Given the description of an element on the screen output the (x, y) to click on. 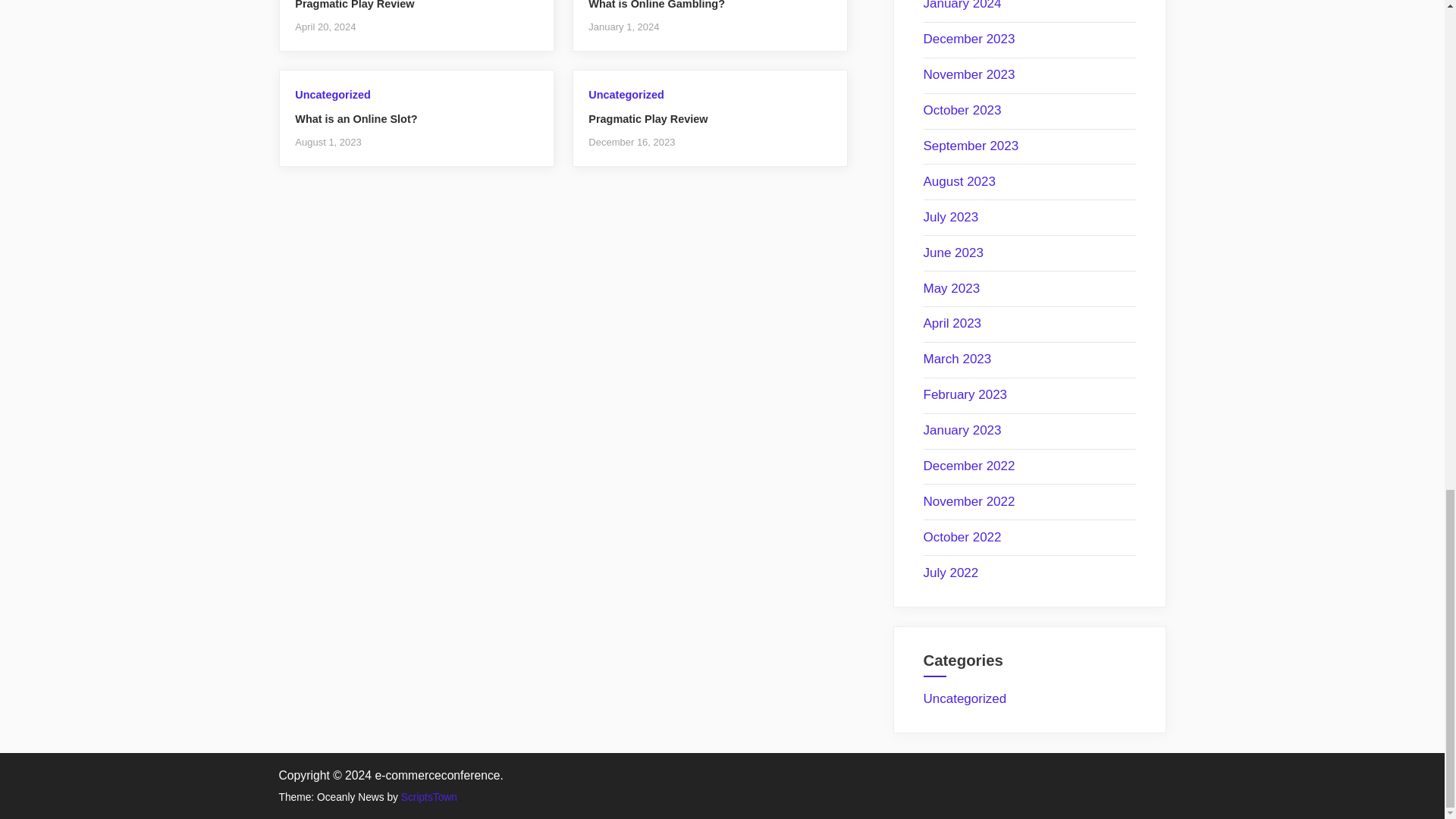
November 2023 (968, 74)
October 2023 (962, 110)
August 2023 (959, 181)
December 2023 (968, 38)
Pragmatic Play Review (354, 4)
Uncategorized (625, 94)
Uncategorized (332, 94)
Pragmatic Play Review (647, 119)
January 2024 (962, 5)
What is Online Gambling? (656, 4)
September 2023 (971, 145)
What is an Online Slot? (355, 119)
July 2023 (950, 216)
